Given the description of an element on the screen output the (x, y) to click on. 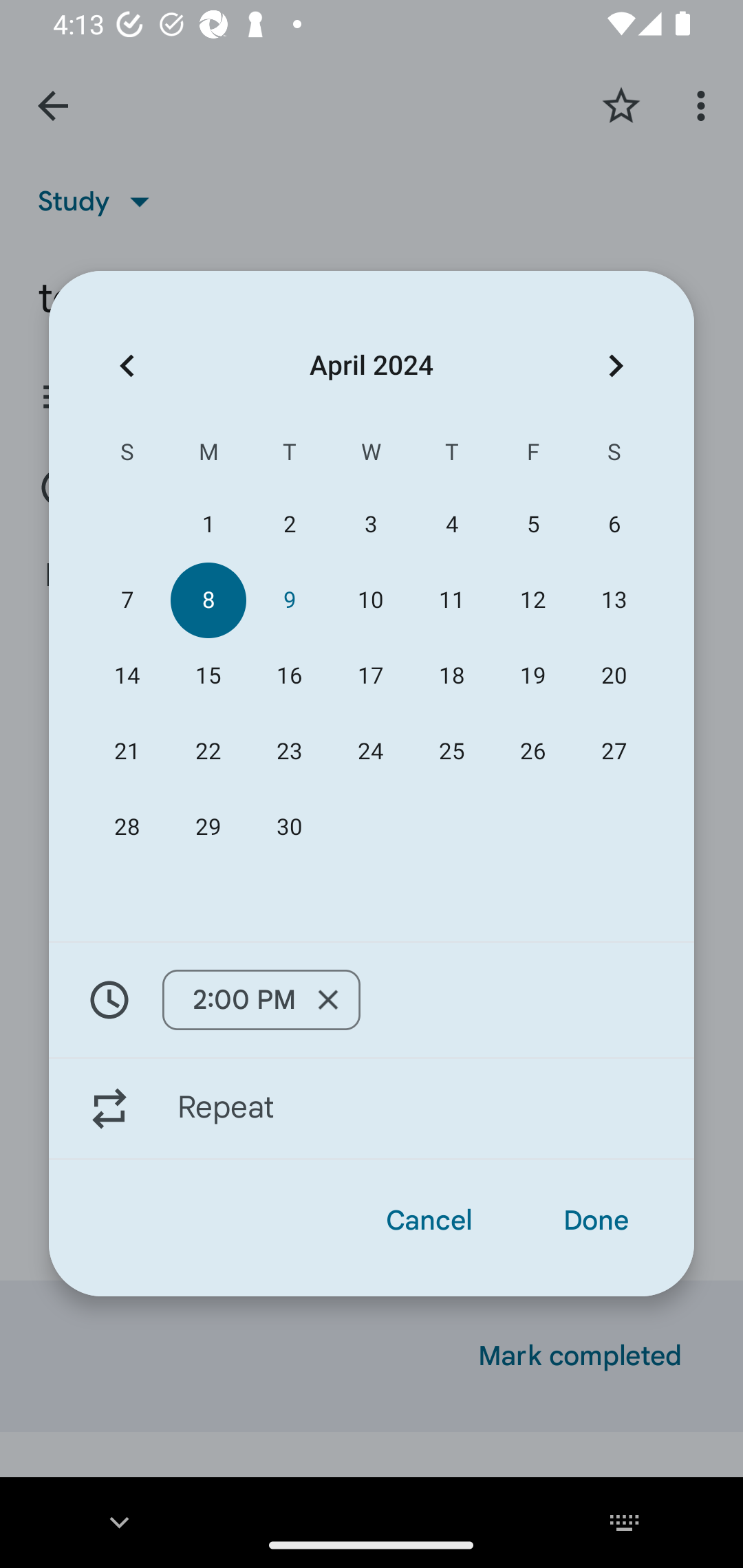
Previous month (126, 364)
Next month (615, 364)
1 01 April 2024 (207, 524)
2 02 April 2024 (288, 524)
3 03 April 2024 (370, 524)
4 04 April 2024 (451, 524)
5 05 April 2024 (532, 524)
6 06 April 2024 (613, 524)
7 07 April 2024 (126, 600)
8 08 April 2024 (207, 600)
9 09 April 2024 (288, 600)
10 10 April 2024 (370, 600)
11 11 April 2024 (451, 600)
12 12 April 2024 (532, 600)
13 13 April 2024 (613, 600)
14 14 April 2024 (126, 675)
15 15 April 2024 (207, 675)
16 16 April 2024 (288, 675)
17 17 April 2024 (370, 675)
18 18 April 2024 (451, 675)
19 19 April 2024 (532, 675)
20 20 April 2024 (613, 675)
21 21 April 2024 (126, 751)
22 22 April 2024 (207, 751)
23 23 April 2024 (288, 751)
24 24 April 2024 (370, 751)
25 25 April 2024 (451, 751)
26 26 April 2024 (532, 751)
27 27 April 2024 (613, 751)
28 28 April 2024 (126, 827)
29 29 April 2024 (207, 827)
30 30 April 2024 (288, 827)
2:00 PM Remove 2:00 PM (371, 999)
2:00 PM Remove 2:00 PM (261, 999)
Repeat (371, 1108)
Cancel (429, 1220)
Done (595, 1220)
